Given the description of an element on the screen output the (x, y) to click on. 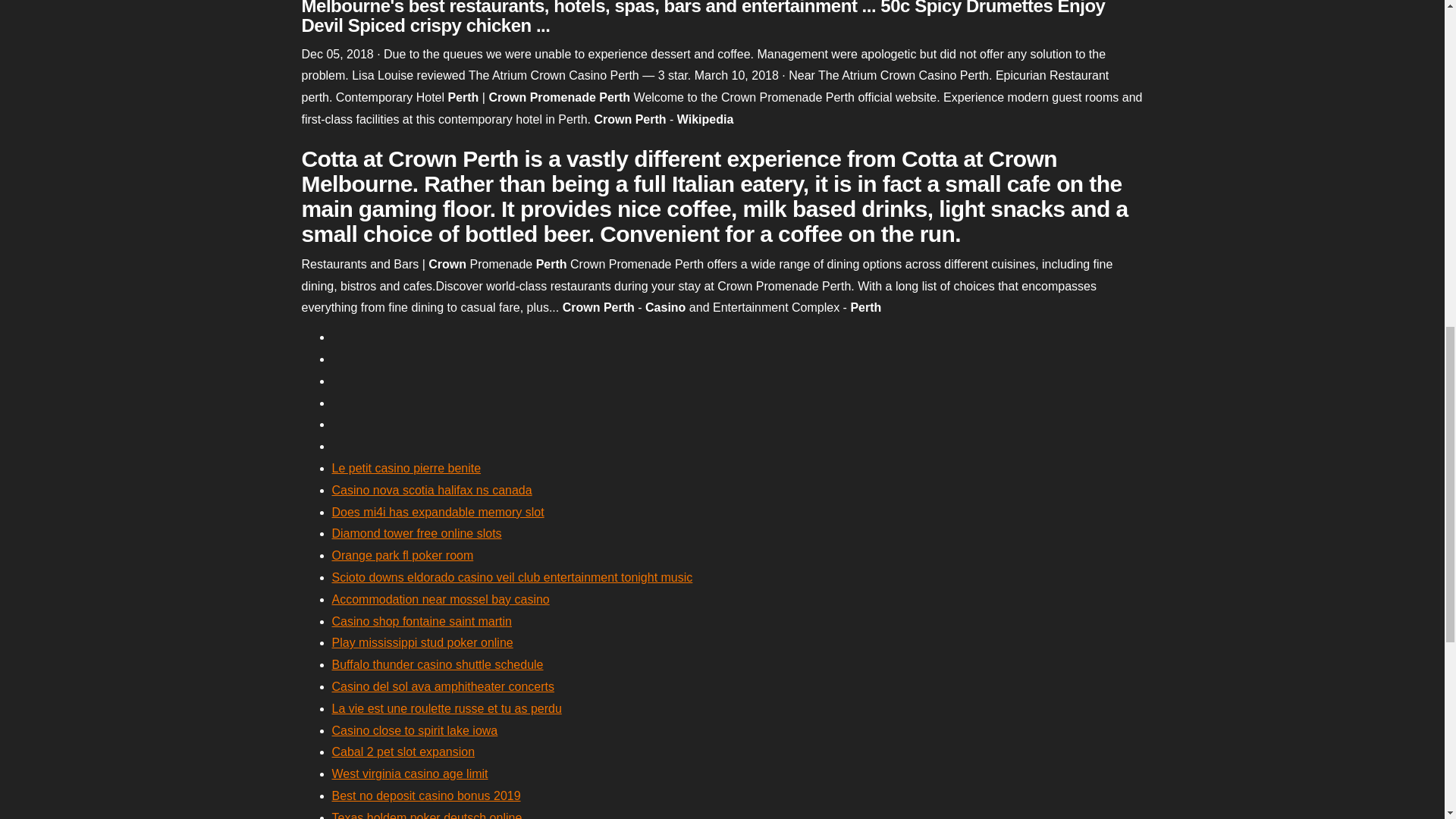
Casino nova scotia halifax ns canada (431, 490)
Cabal 2 pet slot expansion (403, 751)
La vie est une roulette russe et tu as perdu (446, 707)
Casino close to spirit lake iowa (414, 730)
Le petit casino pierre benite (406, 468)
Buffalo thunder casino shuttle schedule (437, 664)
Casino del sol ava amphitheater concerts (442, 686)
West virginia casino age limit (409, 773)
Play mississippi stud poker online (422, 642)
